Given the description of an element on the screen output the (x, y) to click on. 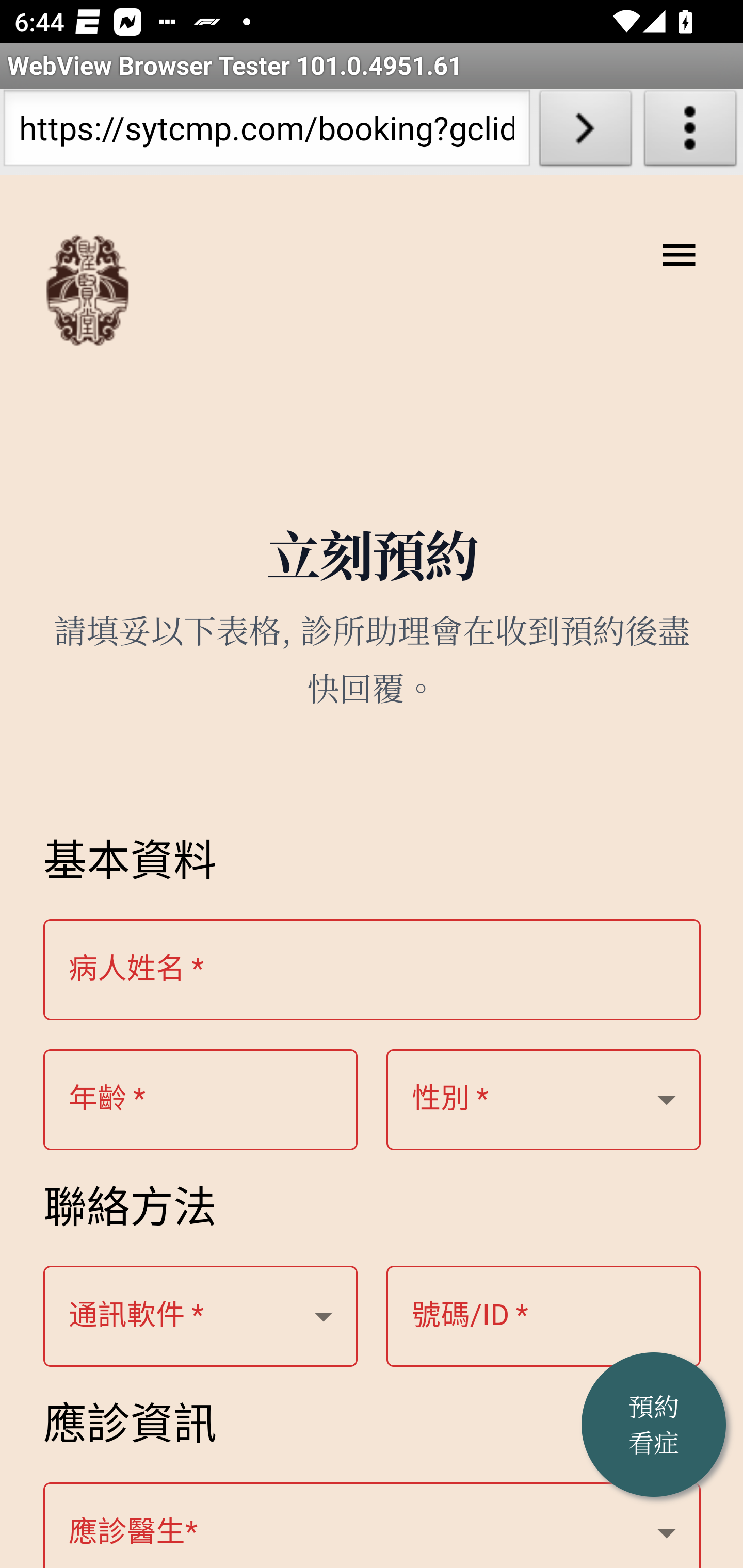
Load URL (585, 132)
About WebView (690, 132)
年齡 (544, 1100)
年齡 (107, 1099)
通訊軟件 (136, 1316)
預約 看症 (654, 1425)
​ (372, 1524)
